Given the description of an element on the screen output the (x, y) to click on. 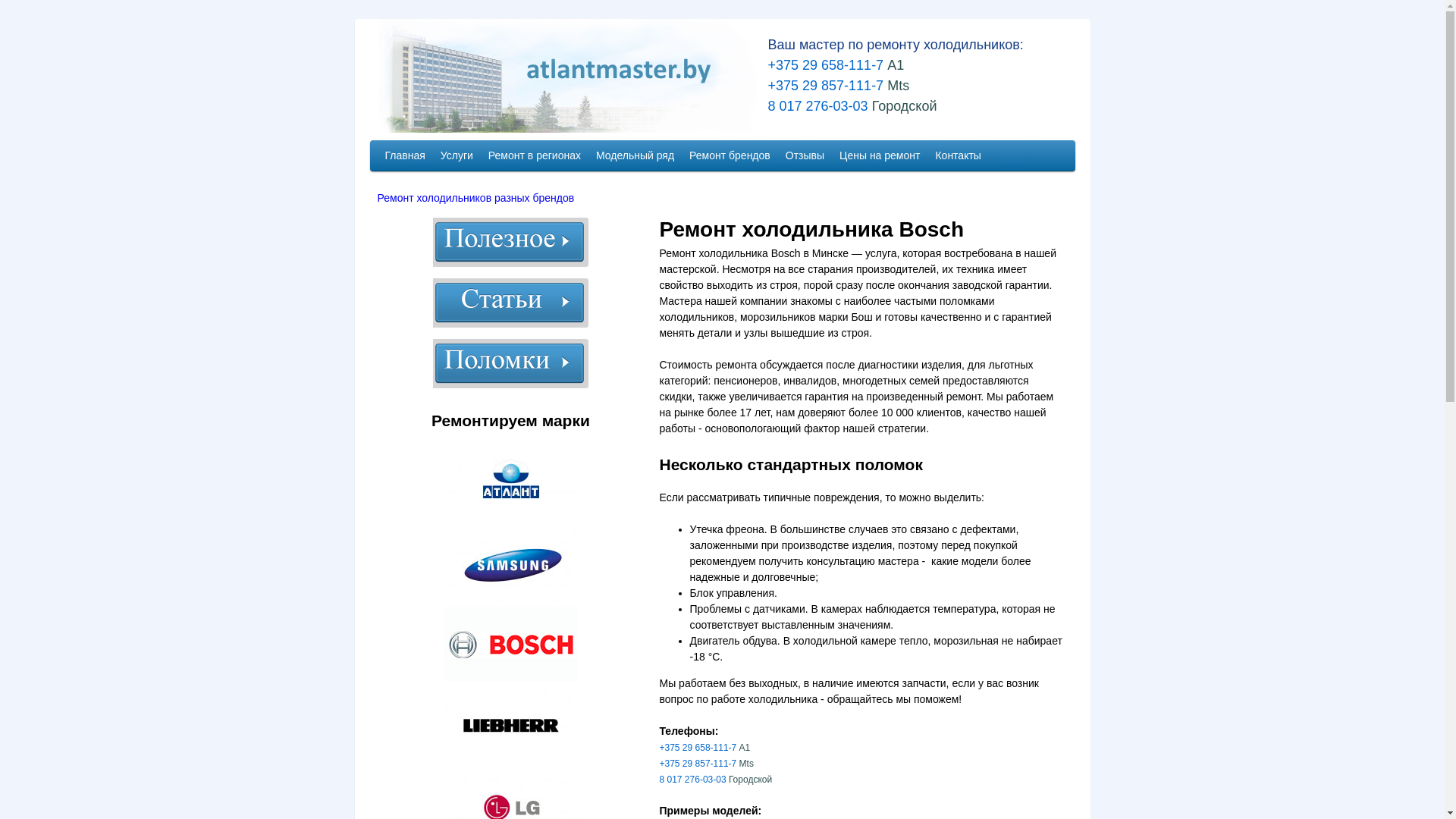
   +375 29 658-111-7 Element type: text (820, 64)
   8 017 276-03-03 Element type: text (812, 105)
   +375 29 857-111-7 Element type: text (820, 85)
+375 29 857-111-7 Element type: text (698, 763)
8 017 276-03-03 Element type: text (692, 779)
+375 29 658-111-7 Element type: text (698, 747)
